Given the description of an element on the screen output the (x, y) to click on. 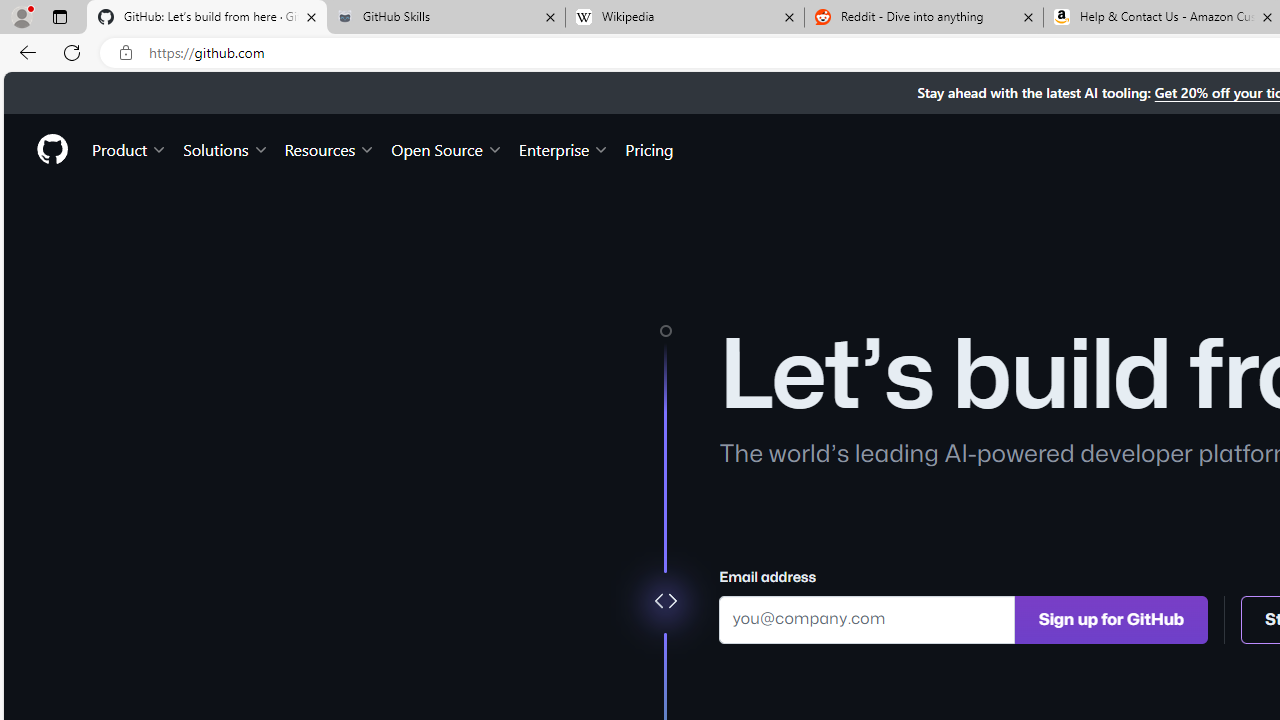
Enterprise (563, 148)
Reddit - Dive into anything (924, 17)
Open Source (446, 148)
Wikipedia (684, 17)
Product (130, 148)
Pricing (649, 148)
Enterprise (563, 148)
Back (24, 52)
Homepage (51, 149)
